Given the description of an element on the screen output the (x, y) to click on. 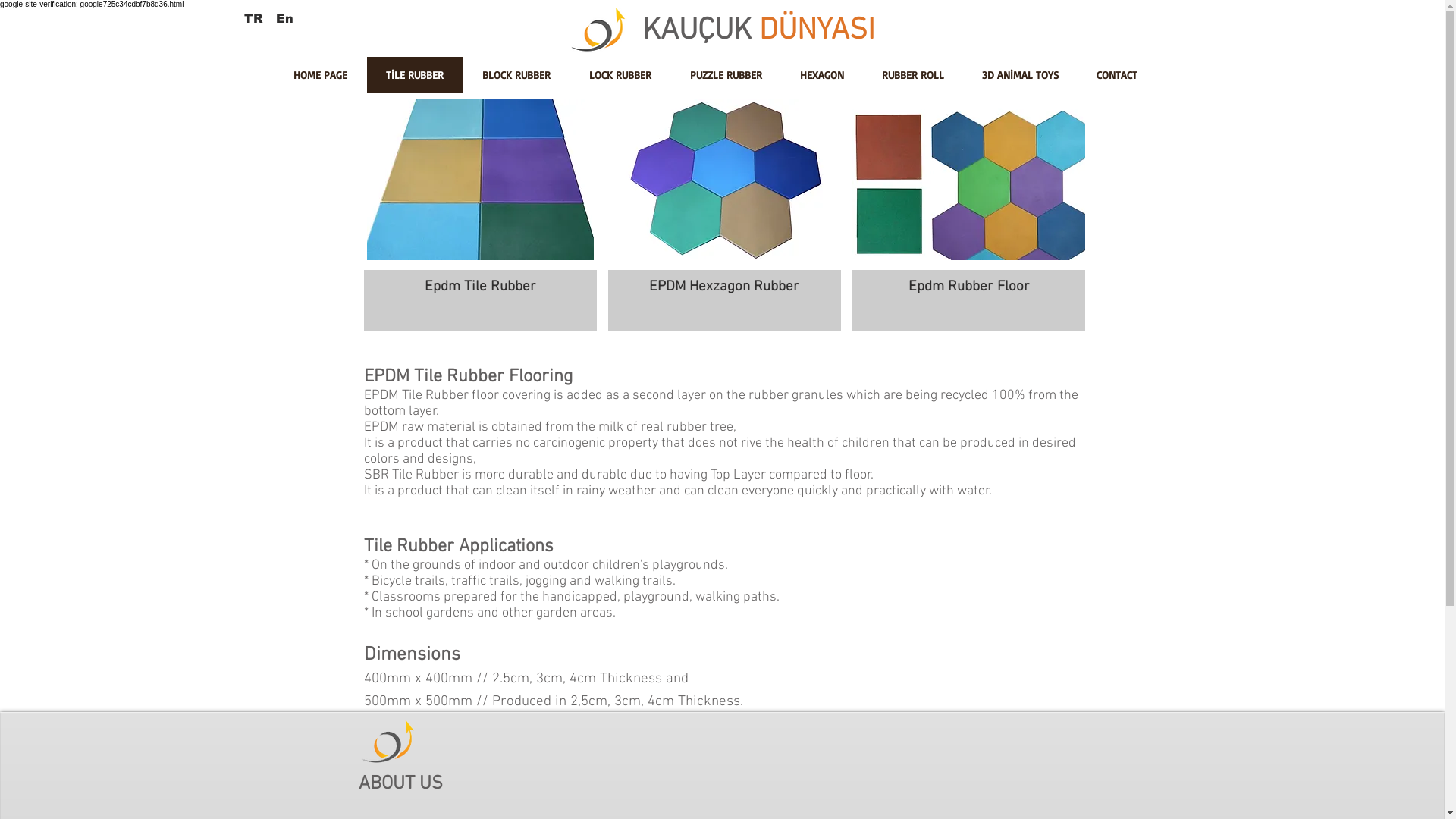
LOCK RUBBER Element type: text (620, 79)
TR Element type: text (253, 18)
PUZZLE RUBBER Element type: text (725, 79)
En Element type: text (283, 18)
BLOCK RUBBER Element type: text (515, 79)
HOME PAGE Element type: text (320, 79)
CONTACT Element type: text (1115, 79)
RUBBER ROLL Element type: text (912, 79)
HEXAGON Element type: text (821, 79)
